Given the description of an element on the screen output the (x, y) to click on. 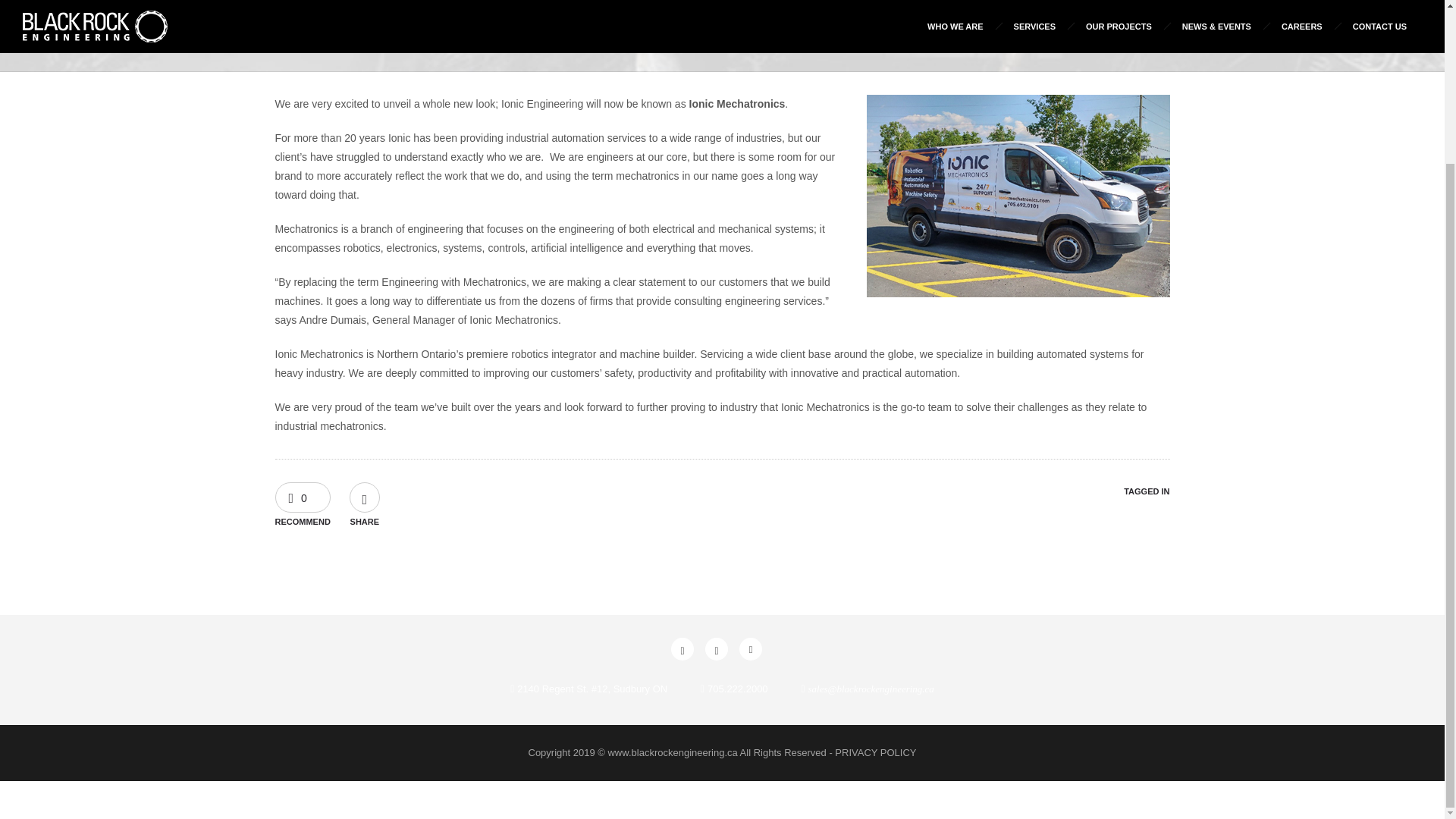
PRIVACY POLICY (874, 752)
Mobile logo (72, 808)
705.222.2000 (737, 688)
